Given the description of an element on the screen output the (x, y) to click on. 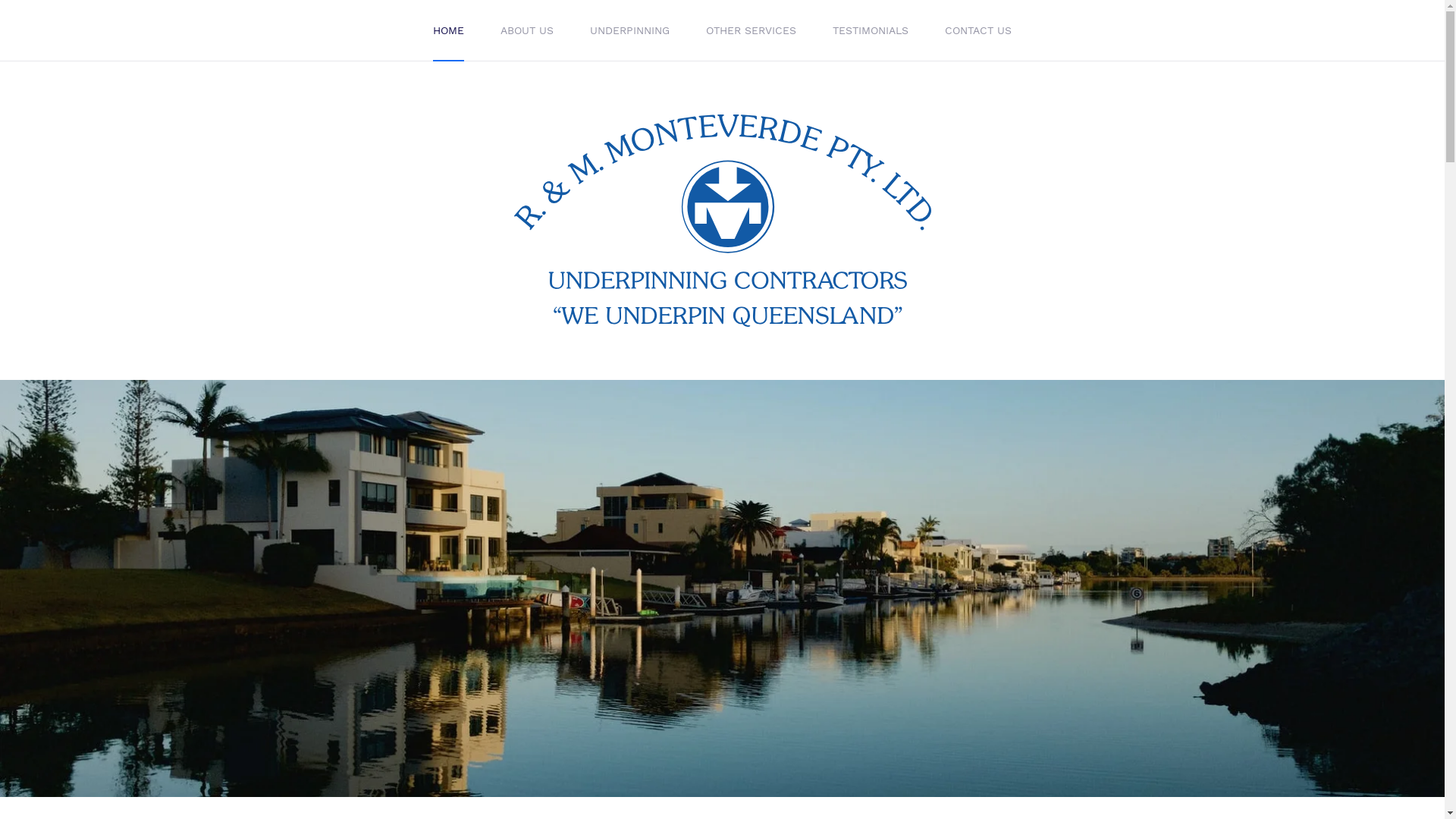
CONTACT US Element type: text (977, 30)
TESTIMONIALS Element type: text (870, 30)
OTHER SERVICES Element type: text (750, 30)
UNDERPINNING Element type: text (629, 30)
ABOUT US Element type: text (526, 30)
HOME Element type: text (448, 30)
